Given the description of an element on the screen output the (x, y) to click on. 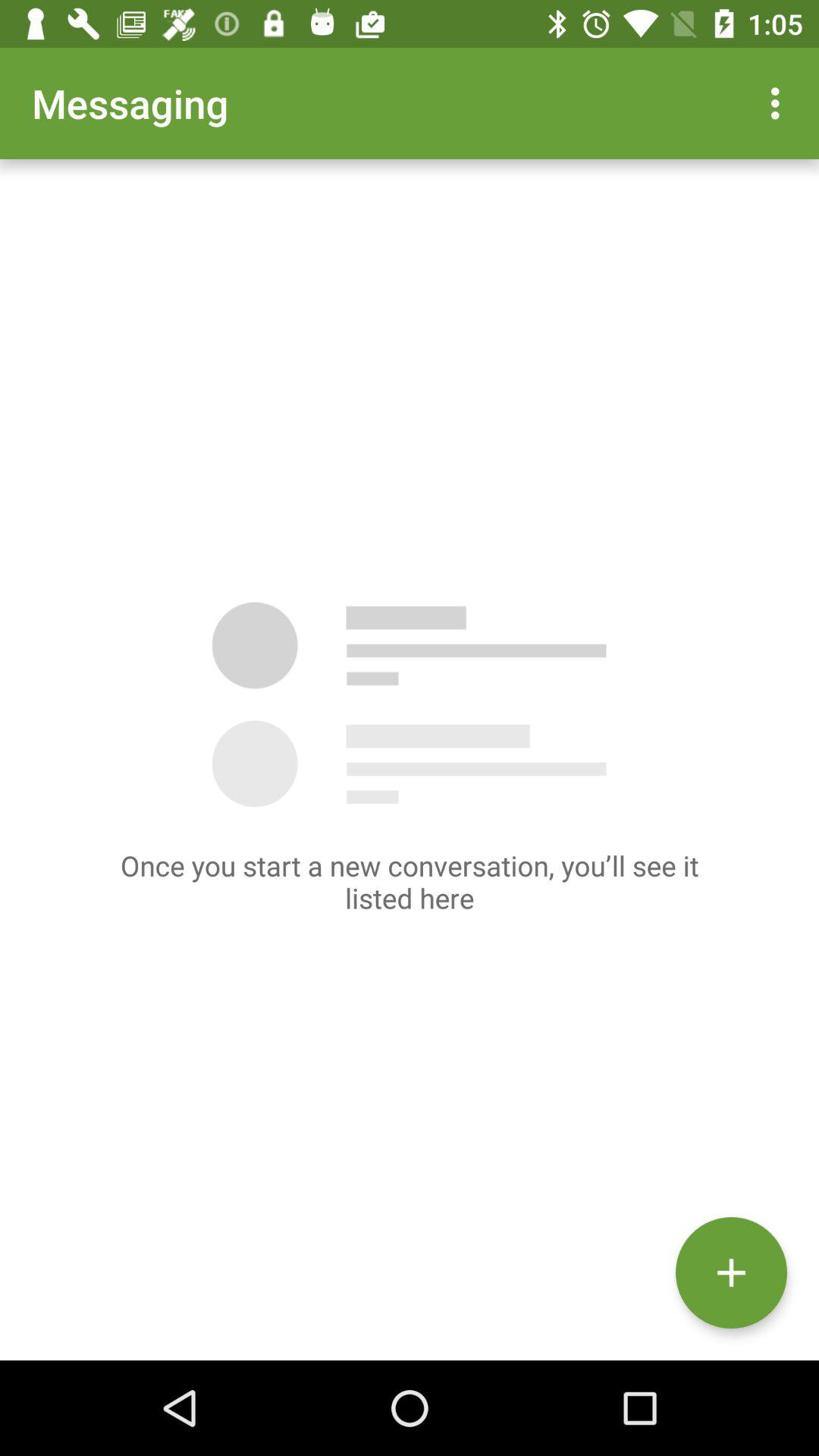
turn off the item to the right of messaging item (779, 103)
